Given the description of an element on the screen output the (x, y) to click on. 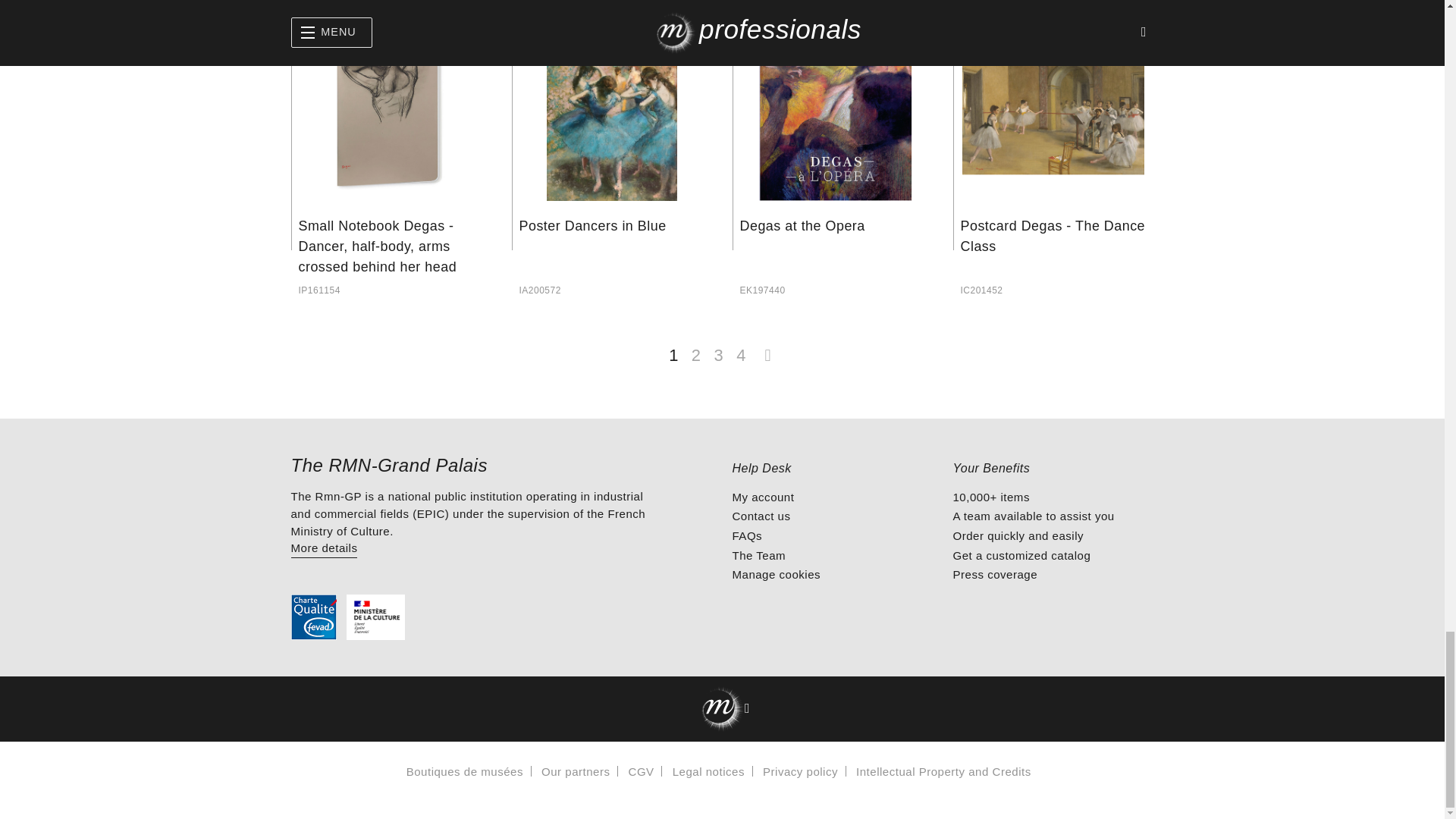
Go to page 2 (767, 348)
Go to page 3 (718, 348)
Go to page 2 (695, 348)
Go to page 4 (740, 348)
